Given the description of an element on the screen output the (x, y) to click on. 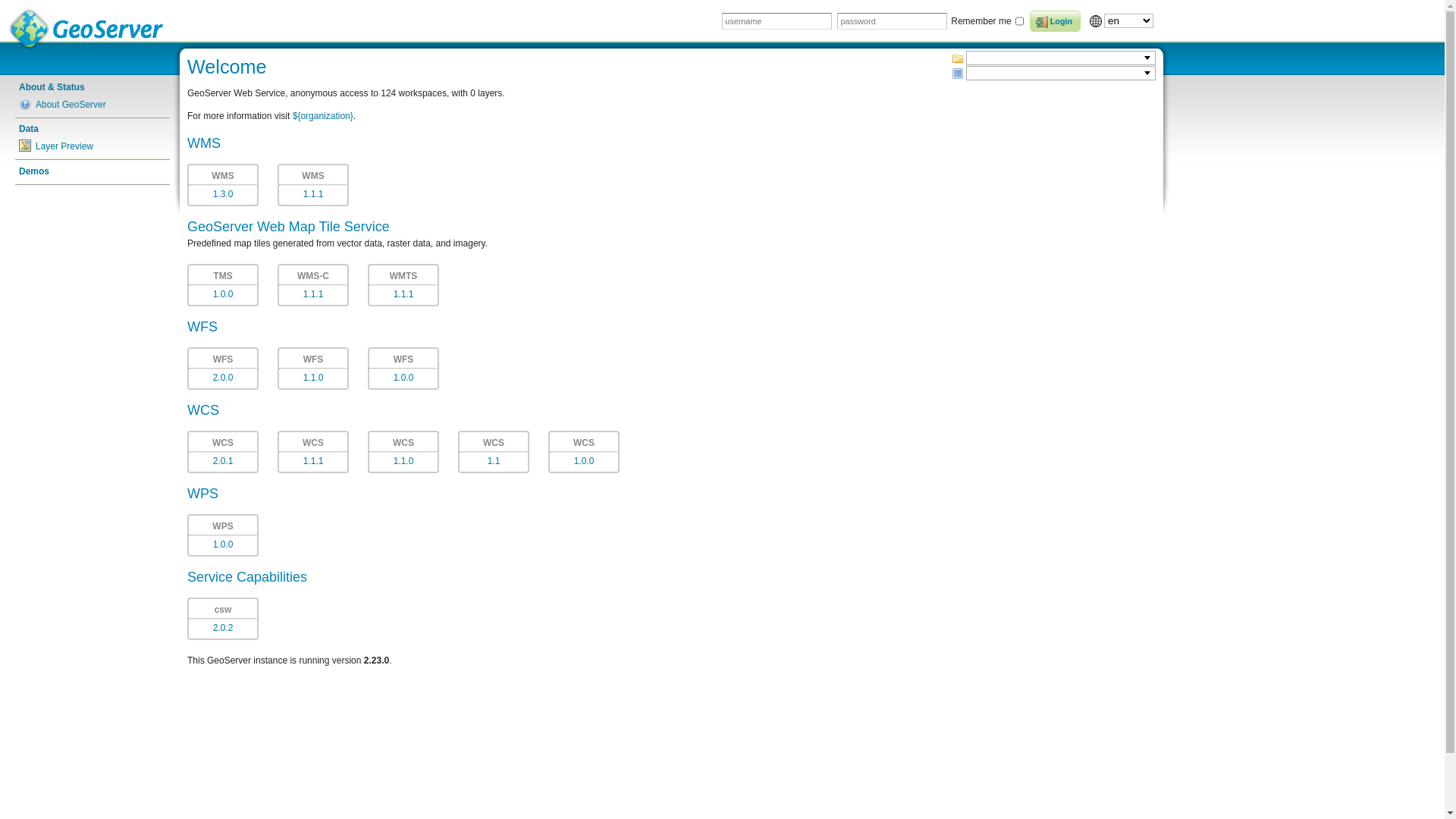
username Element type: hover (776, 20)
WMS
1.1.1 Element type: text (312, 184)
About GeoServer Element type: text (92, 104)
WFS
1.0.0 Element type: text (403, 368)
WCS
1.1.1 Element type: text (312, 451)
Layer Preview Element type: text (92, 146)
WCS
1.1.0 Element type: text (403, 451)
WFS
2.0.0 Element type: text (222, 368)
Login Element type: text (1055, 20)
WFS
1.1.0 Element type: text (312, 368)
WCS
1.1 Element type: text (493, 451)
WCS
2.0.1 Element type: text (222, 451)
Workspace Element type: hover (957, 58)
WMS-C
1.1.1 Element type: text (312, 284)
WMTS
1.1.1 Element type: text (403, 284)
WPS
1.0.0 Element type: text (222, 535)
WCS
1.0.0 Element type: text (583, 451)
WMS
1.3.0 Element type: text (222, 184)
TMS
1.0.0 Element type: text (222, 284)
Demos Element type: text (92, 171)
Layer Element type: hover (957, 73)
csw
2.0.2 Element type: text (222, 618)
password Element type: hover (891, 20)
